Given the description of an element on the screen output the (x, y) to click on. 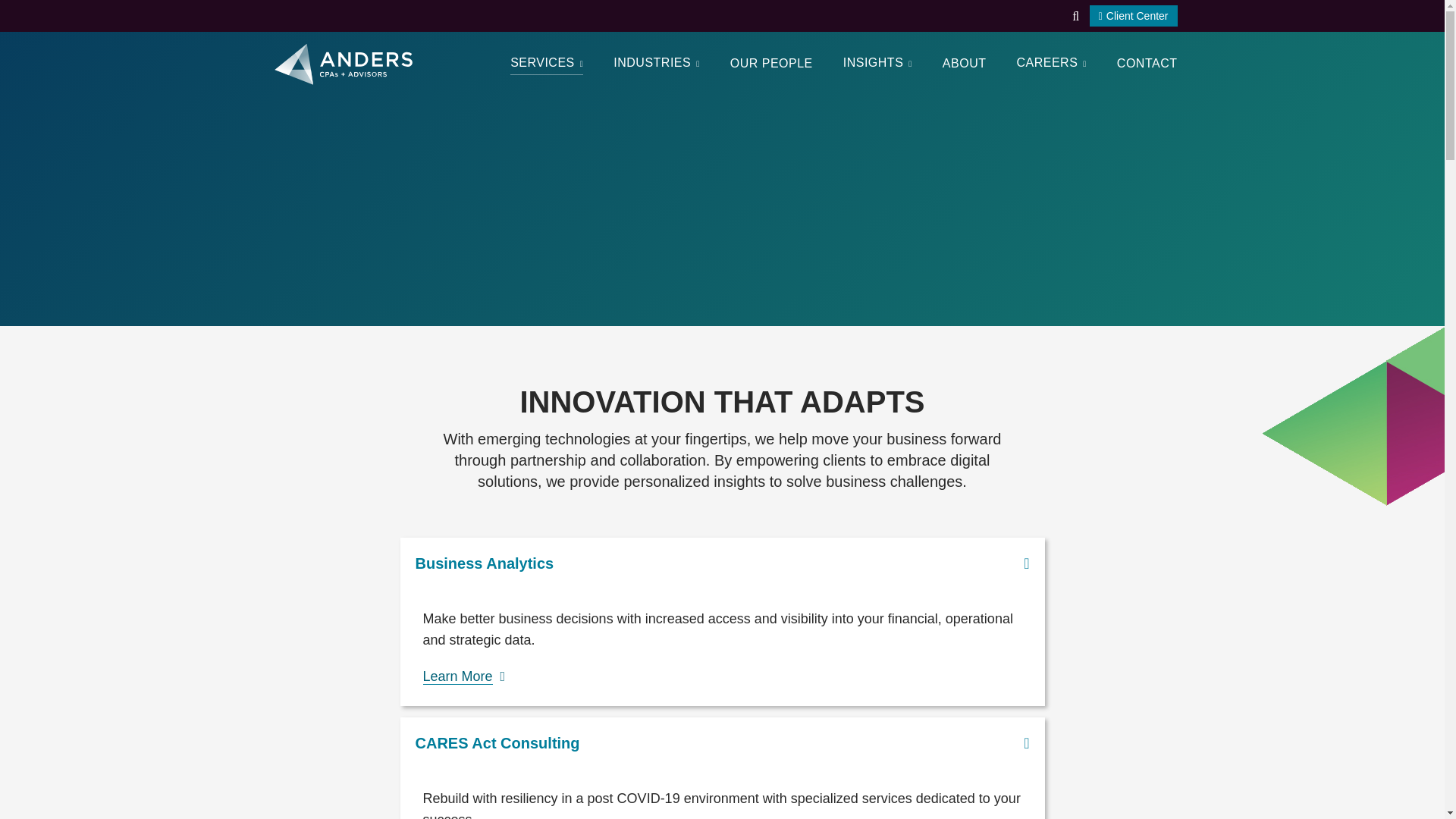
INDUSTRIES (655, 63)
SERVICES (547, 63)
Client Center (1133, 14)
